Given the description of an element on the screen output the (x, y) to click on. 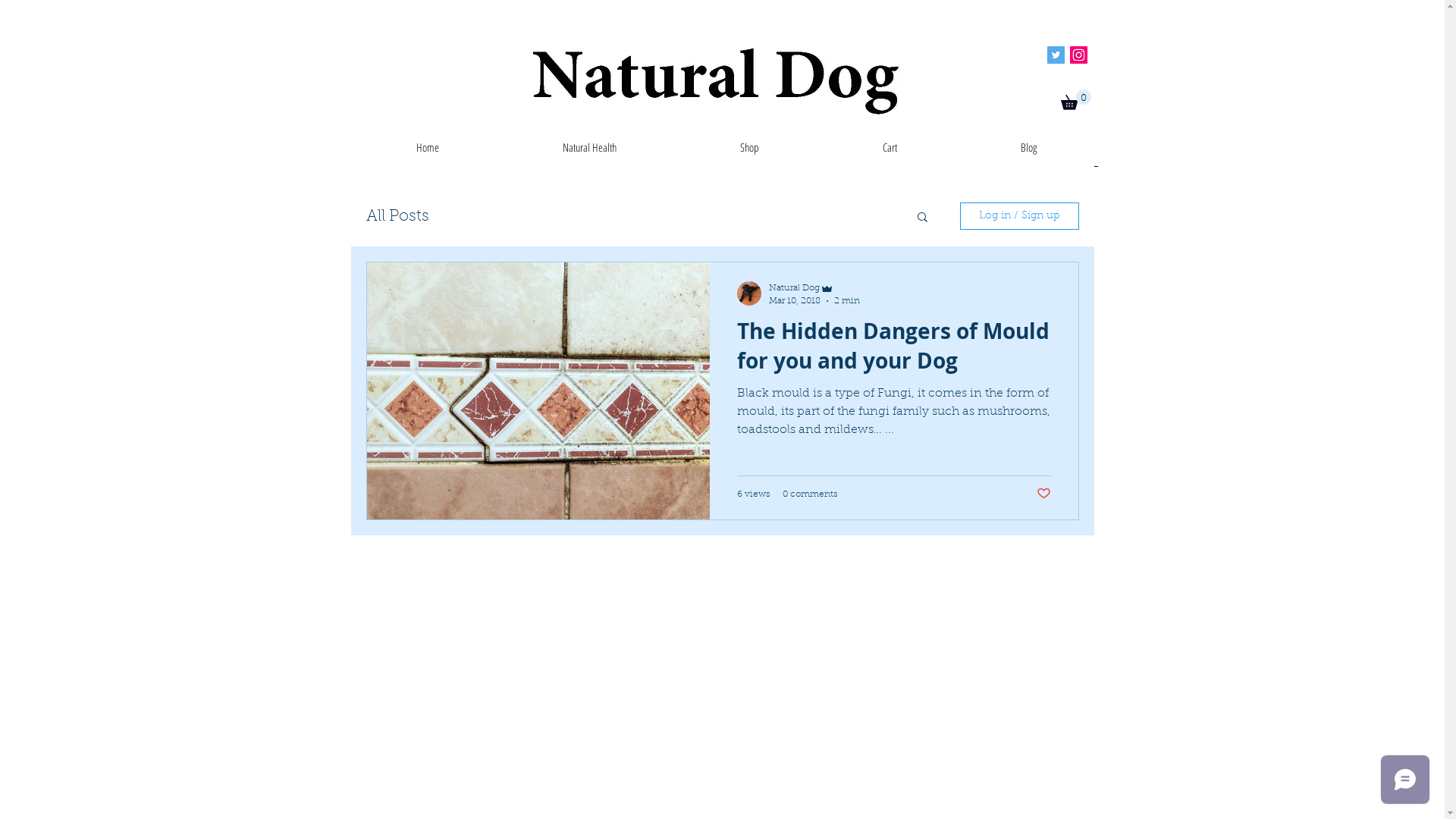
The Hidden Dangers of Mould for you and your Dog Element type: text (894, 349)
Post not marked as liked Element type: text (1042, 493)
Log in / Sign up Element type: text (1019, 215)
Cart Element type: text (889, 151)
0 comments Element type: text (809, 493)
Blog Element type: text (1027, 151)
Shop Element type: text (748, 151)
All Posts Element type: text (396, 215)
0 Element type: text (1075, 99)
Home Element type: text (427, 151)
